Given the description of an element on the screen output the (x, y) to click on. 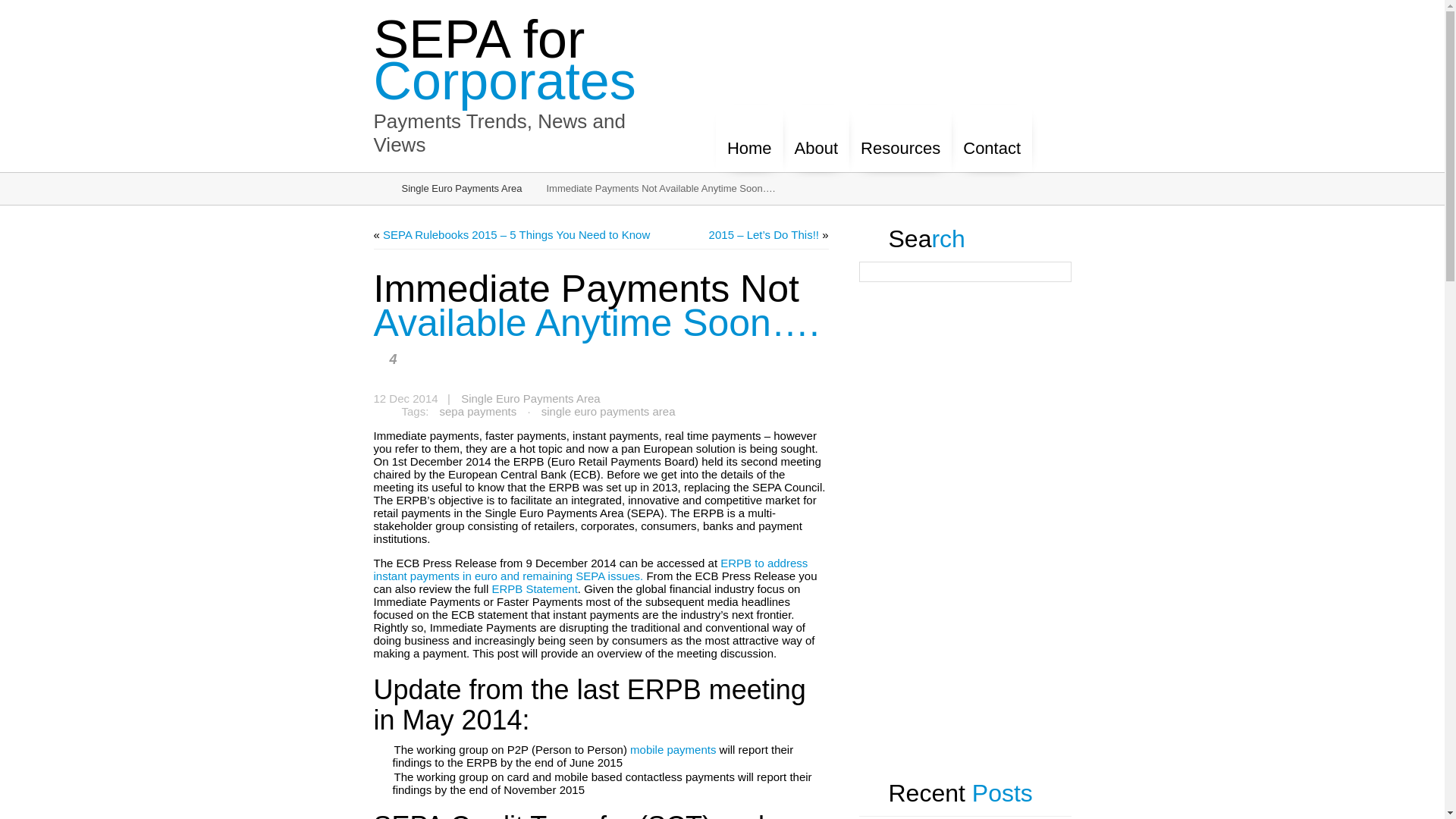
sepa payments (478, 411)
mobile payments (673, 749)
Single Euro Payments Area (529, 398)
search (10, 10)
ERPB Statement - 1st December 2014 (534, 589)
single euro payments area (608, 411)
Resources (900, 139)
